Given the description of an element on the screen output the (x, y) to click on. 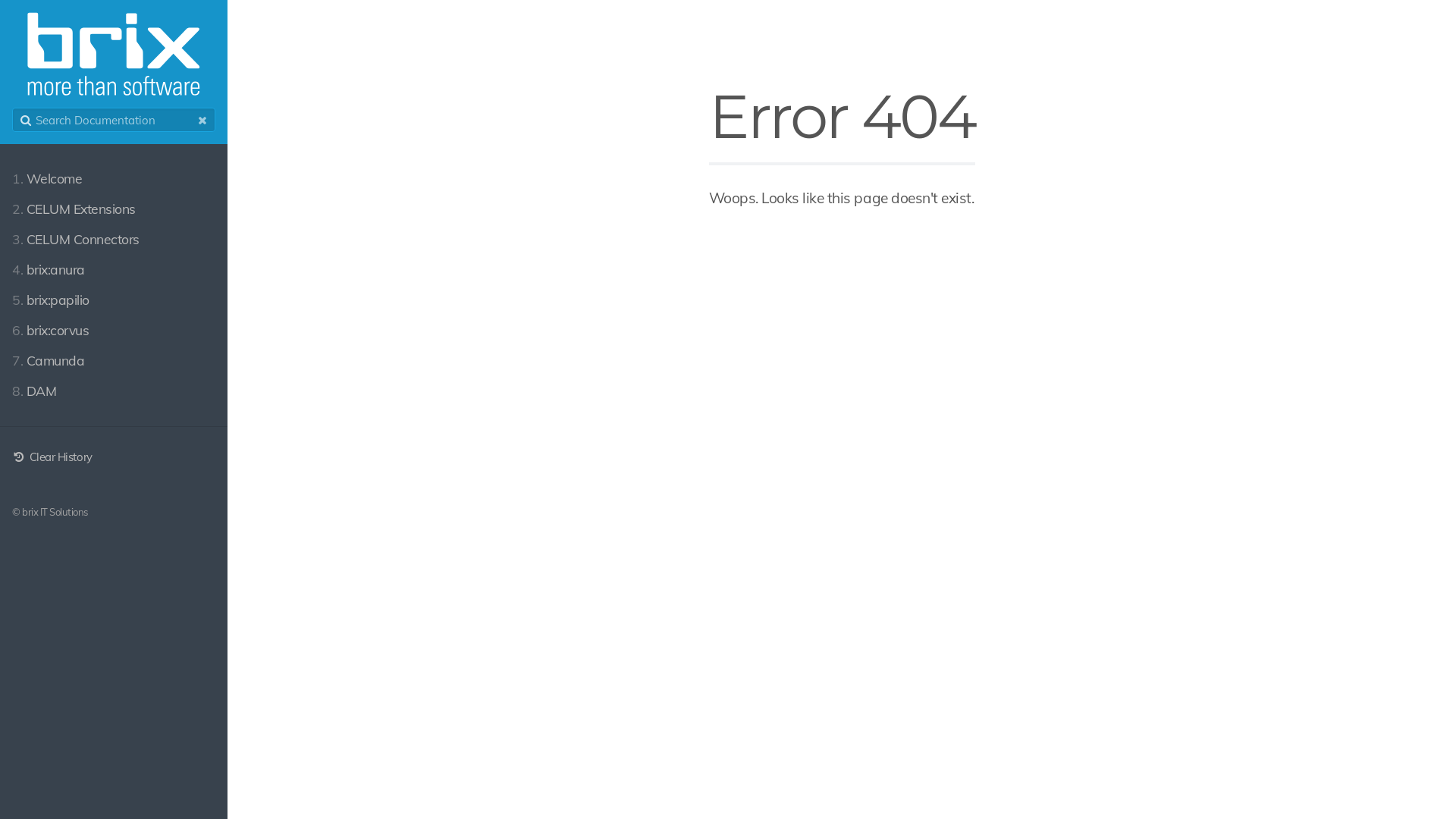
6. brix:corvus Element type: text (113, 329)
2. CELUM Extensions Element type: text (113, 208)
3. CELUM Connectors Element type: text (113, 238)
5. brix:papilio Element type: text (113, 299)
1. Welcome Element type: text (113, 178)
Clear History Element type: text (52, 456)
4. brix:anura Element type: text (113, 269)
7. Camunda Element type: text (113, 360)
8. DAM Element type: text (113, 390)
